Given the description of an element on the screen output the (x, y) to click on. 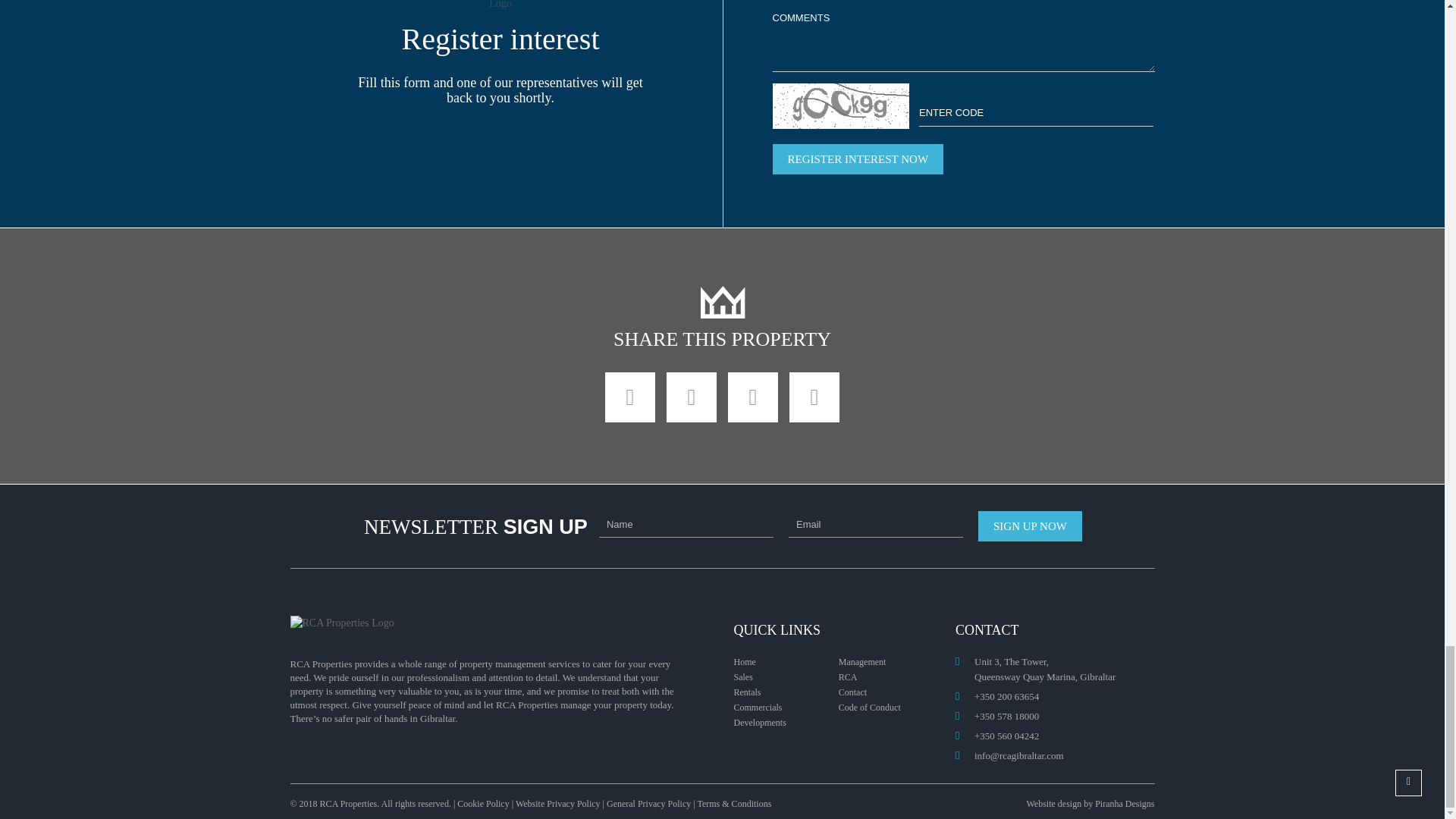
RCA Properties (721, 302)
RCA Properties (499, 5)
Register Interest Now (857, 159)
